Given the description of an element on the screen output the (x, y) to click on. 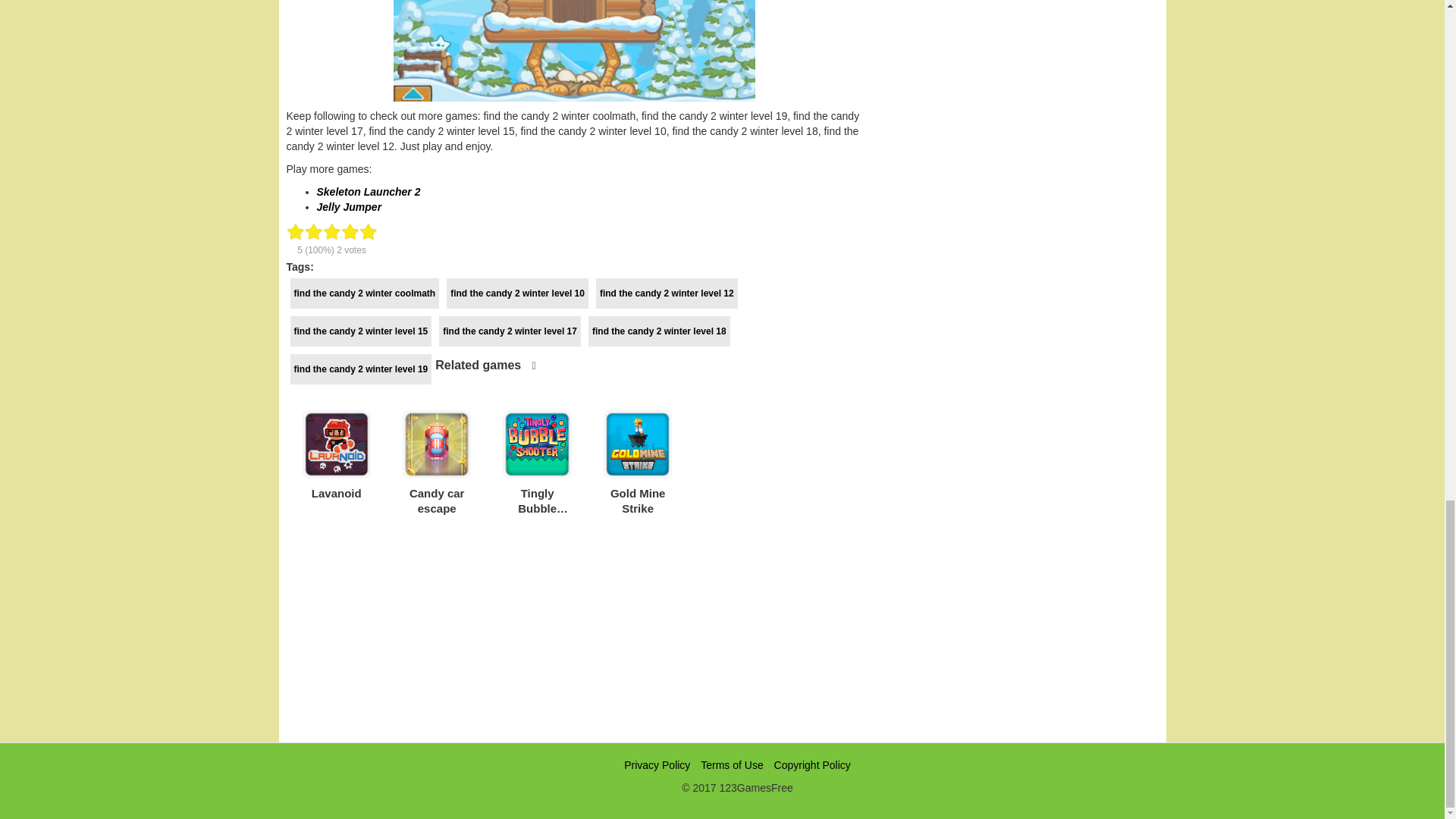
Privacy Policy (657, 765)
find the candy 2 winter level 12 (666, 293)
Terms of Use (731, 765)
Copyright Policy (812, 765)
find the candy 2 winter coolmath (364, 293)
find the candy 2 winter level 15 (359, 331)
find the candy 2 winter level 10 (517, 293)
Jelly Jumper (349, 206)
find the candy 2 winter level 18 (659, 331)
find the candy 2 winter level 17 (509, 331)
Skeleton Launcher 2 (368, 191)
